Given the description of an element on the screen output the (x, y) to click on. 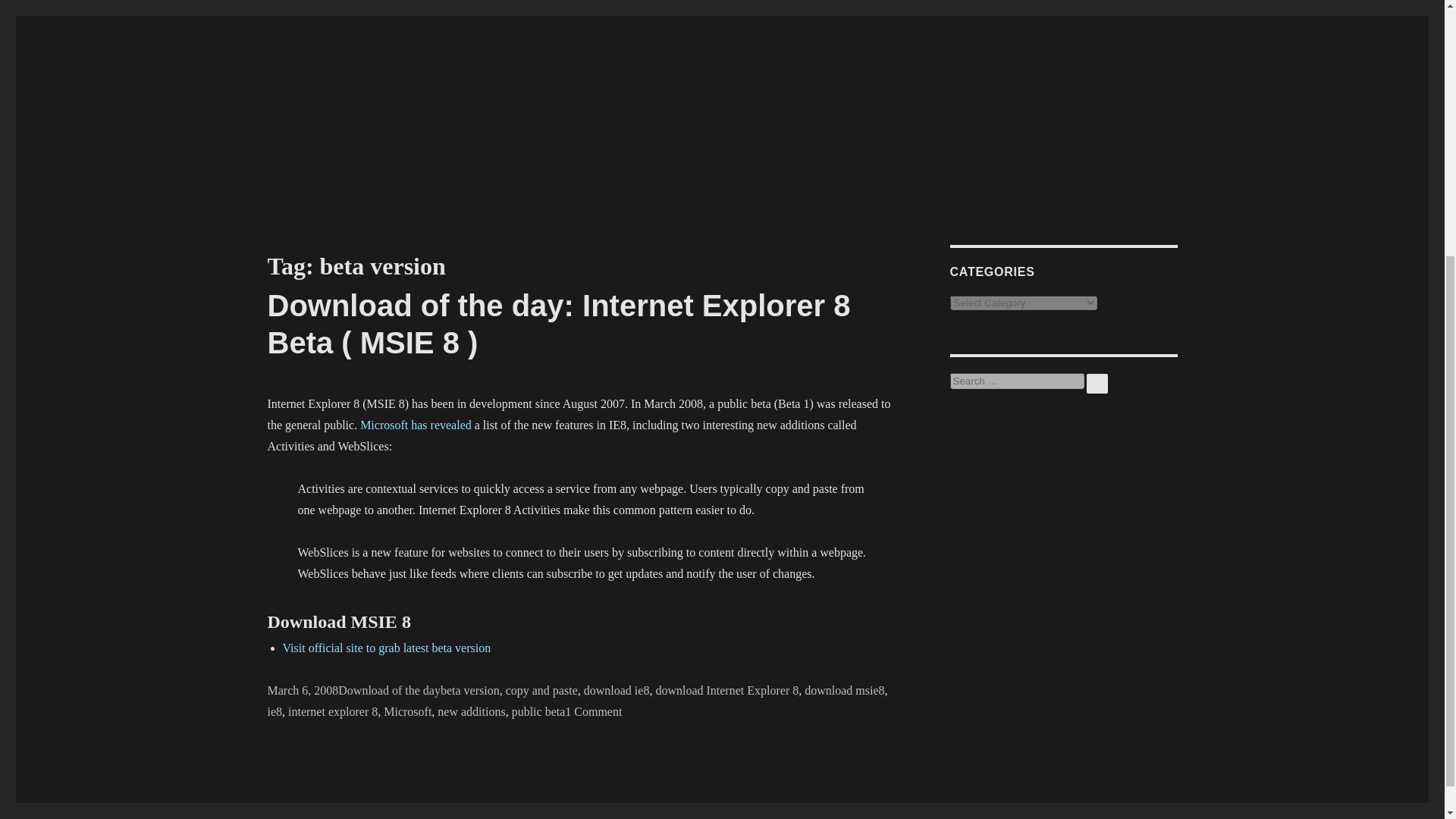
download ie8 (616, 689)
beta version (470, 689)
March 6, 2008 (301, 689)
Visit official site to grab latest beta version (386, 647)
Microsoft has revealed (415, 424)
download Internet Explorer 8 (726, 689)
copy and paste (541, 689)
ie8 (274, 711)
SEARCH (1097, 383)
internet explorer 8 (332, 711)
Microsoft (407, 711)
public beta (539, 711)
download msie8 (844, 689)
Download of the day (389, 689)
new additions (471, 711)
